Given the description of an element on the screen output the (x, y) to click on. 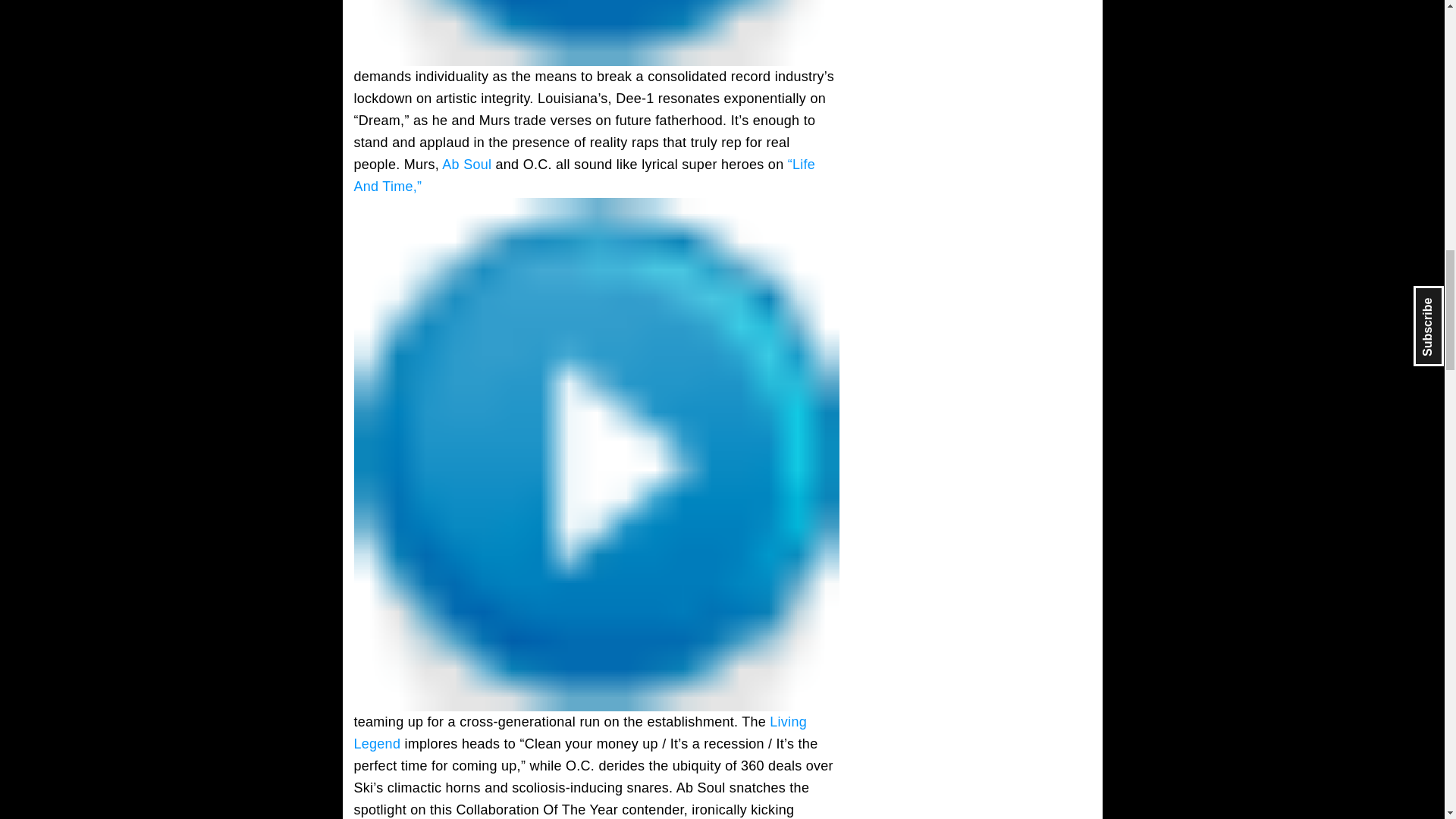
Ab Soul (467, 164)
